Given the description of an element on the screen output the (x, y) to click on. 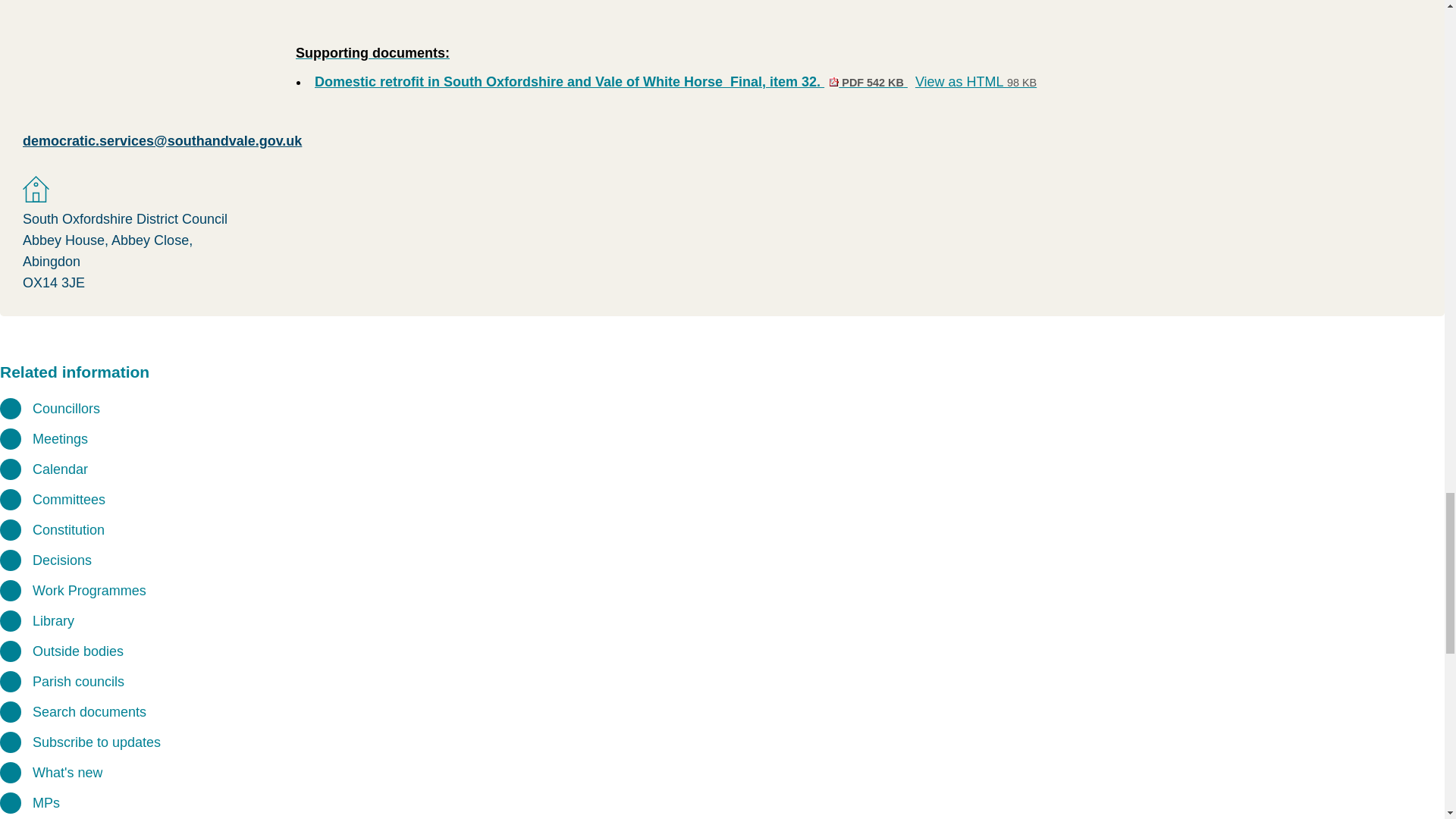
Library (53, 620)
Link to free text search (89, 711)
Decisions (61, 559)
Subscribe to updates (96, 742)
Outside bodies (77, 650)
Link to what's new (66, 772)
Search documents (975, 81)
Link to your Councillors (89, 711)
Committees (66, 408)
Link to Subscribe to Updates (68, 499)
Link to committee structure (96, 742)
Meetings (68, 499)
Link to register of decisions (59, 438)
Councillors (61, 559)
